Given the description of an element on the screen output the (x, y) to click on. 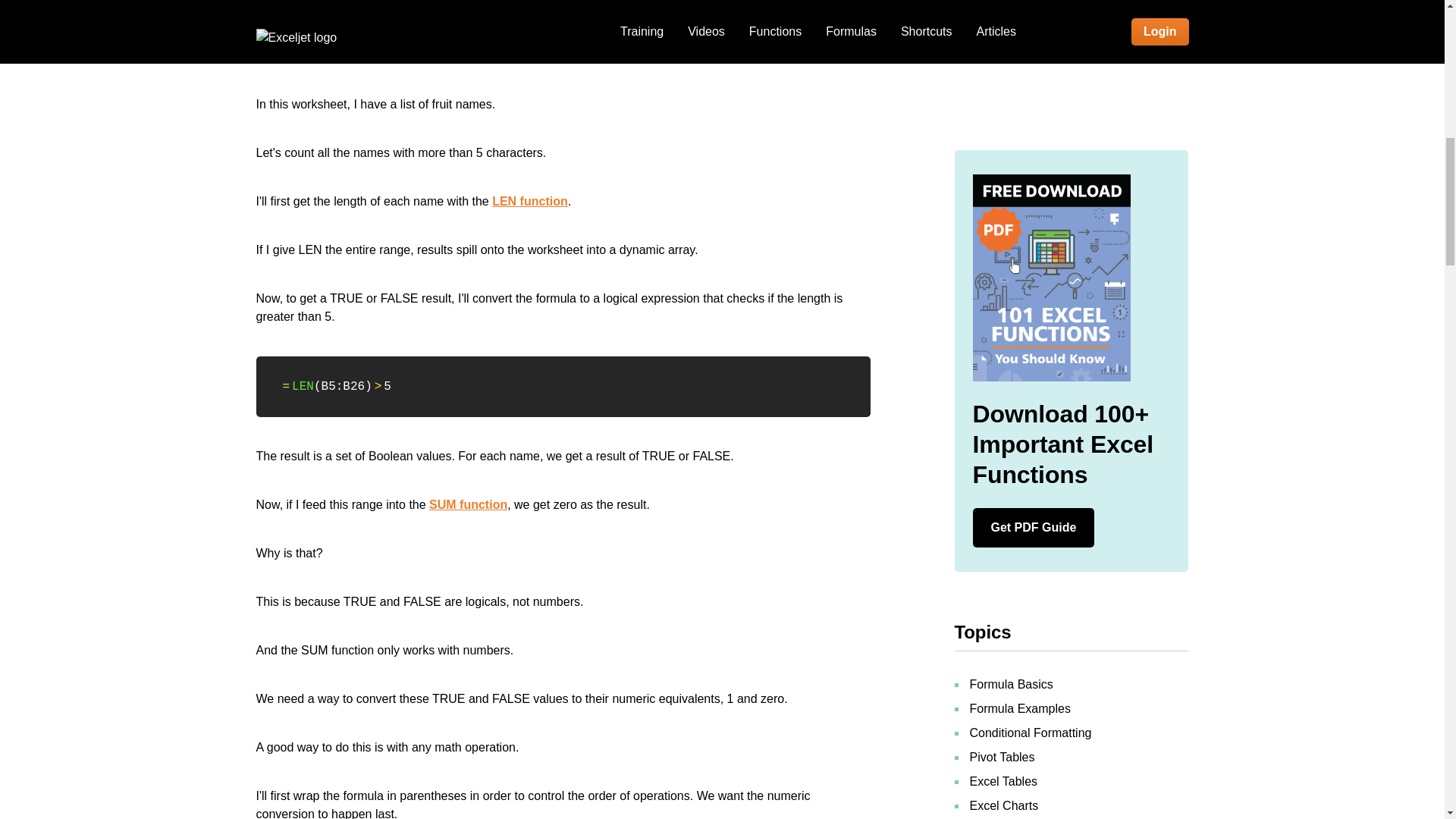
SUM function (467, 504)
LEN (303, 386)
LEN function (529, 201)
